Given the description of an element on the screen output the (x, y) to click on. 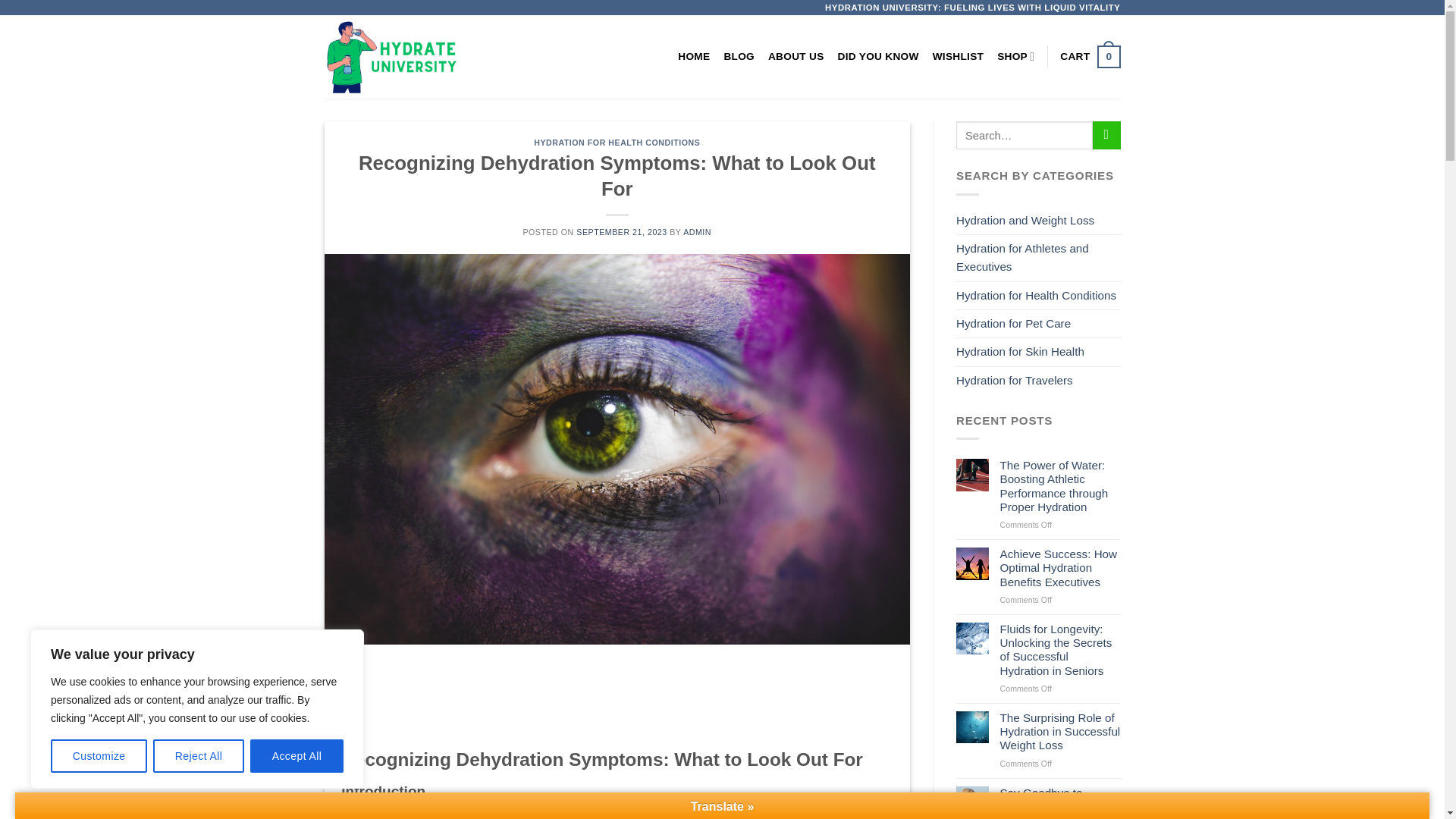
ABOUT US (796, 56)
SEPTEMBER 21, 2023 (621, 231)
The Surprising Role of Hydration in Successful Weight Loss (1060, 731)
HOME (694, 56)
HydrateUniversity (432, 56)
ADMIN (696, 231)
Accept All (296, 756)
Reject All (198, 756)
WISHLIST (1089, 56)
Say Goodbye to Dryness: Secrets to Optimal Skin Hydration (958, 56)
SHOP (1060, 802)
BLOG (1015, 56)
